Given the description of an element on the screen output the (x, y) to click on. 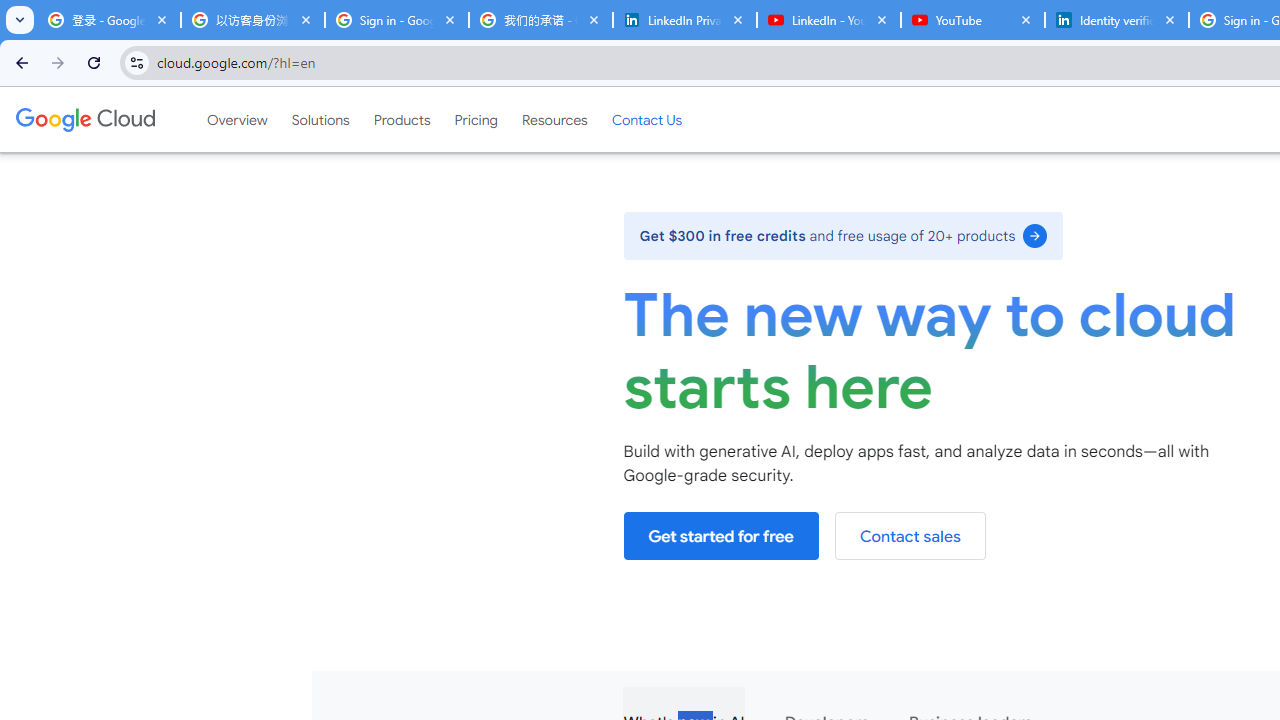
LinkedIn - YouTube (828, 20)
Contact Us (646, 119)
Sign in - Google Accounts (396, 20)
Products (401, 119)
Resources (553, 119)
Google Cloud (84, 119)
Pricing (476, 119)
Get $300 in free credits and free usage of 20+ products (843, 235)
Get started for free (721, 535)
